Given the description of an element on the screen output the (x, y) to click on. 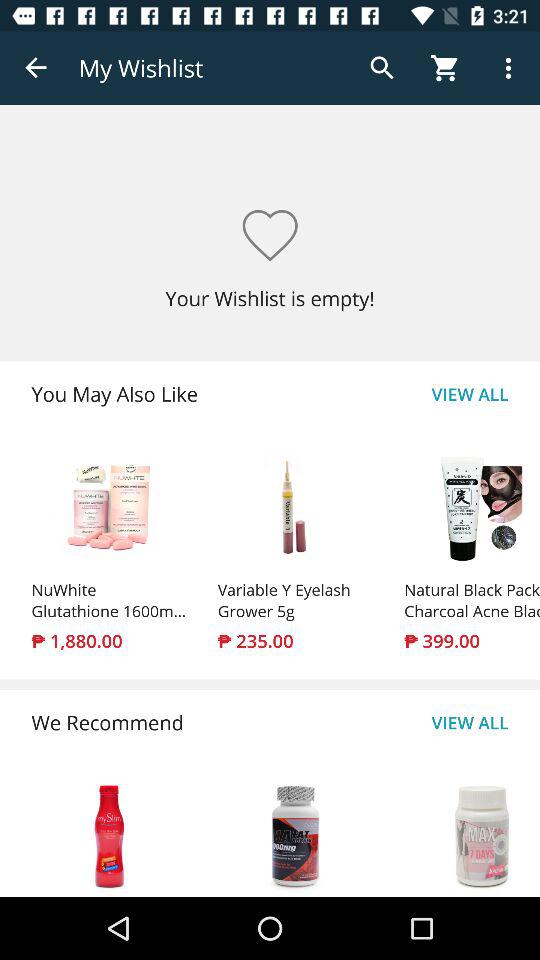
tap the item next to the my wishlist (36, 68)
